Given the description of an element on the screen output the (x, y) to click on. 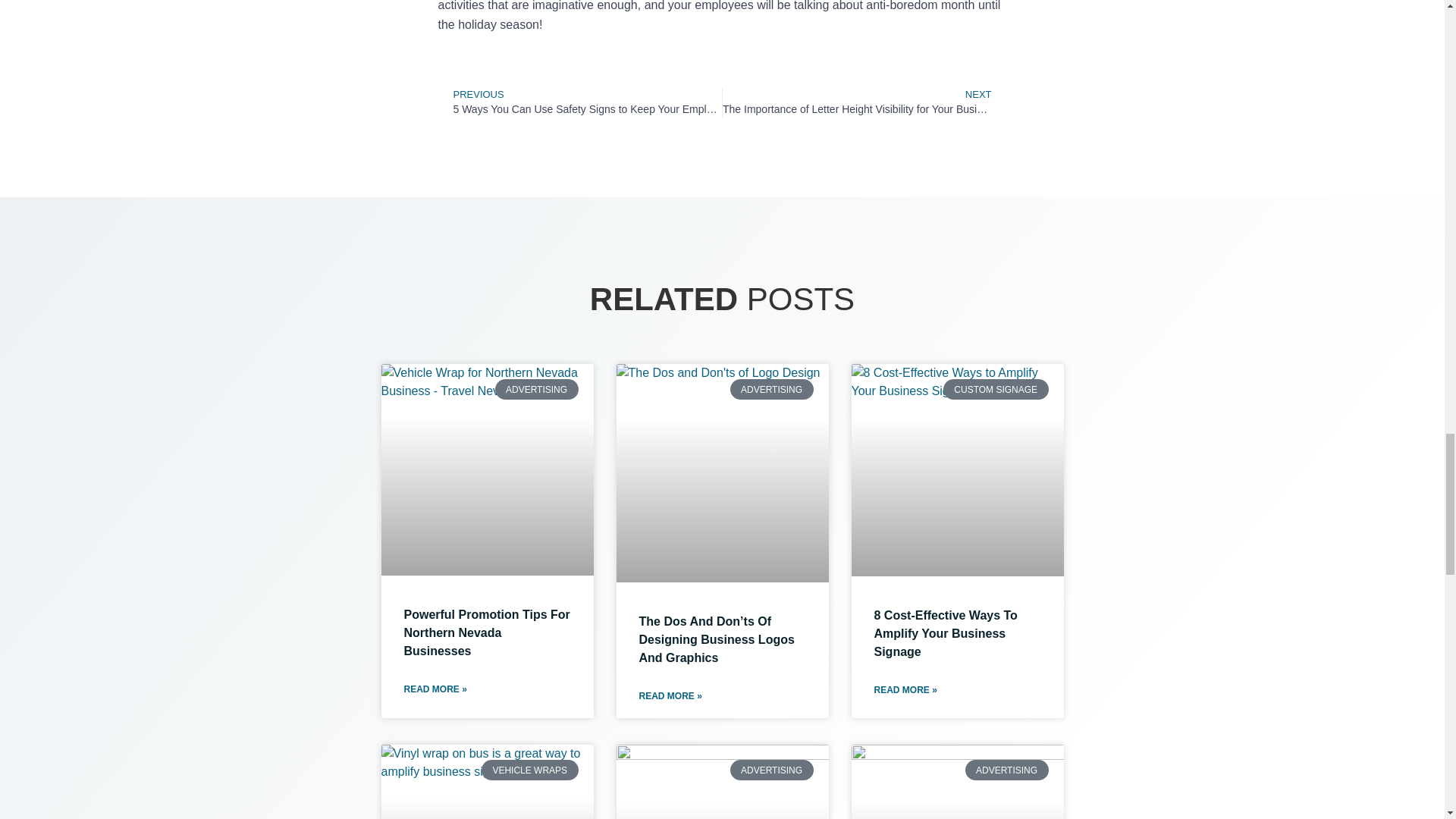
Powerful Promotion Tips For Northern Nevada Businesses (486, 632)
8 Cost-Effective Ways To Amplify Your Business Signage (944, 633)
